Given the description of an element on the screen output the (x, y) to click on. 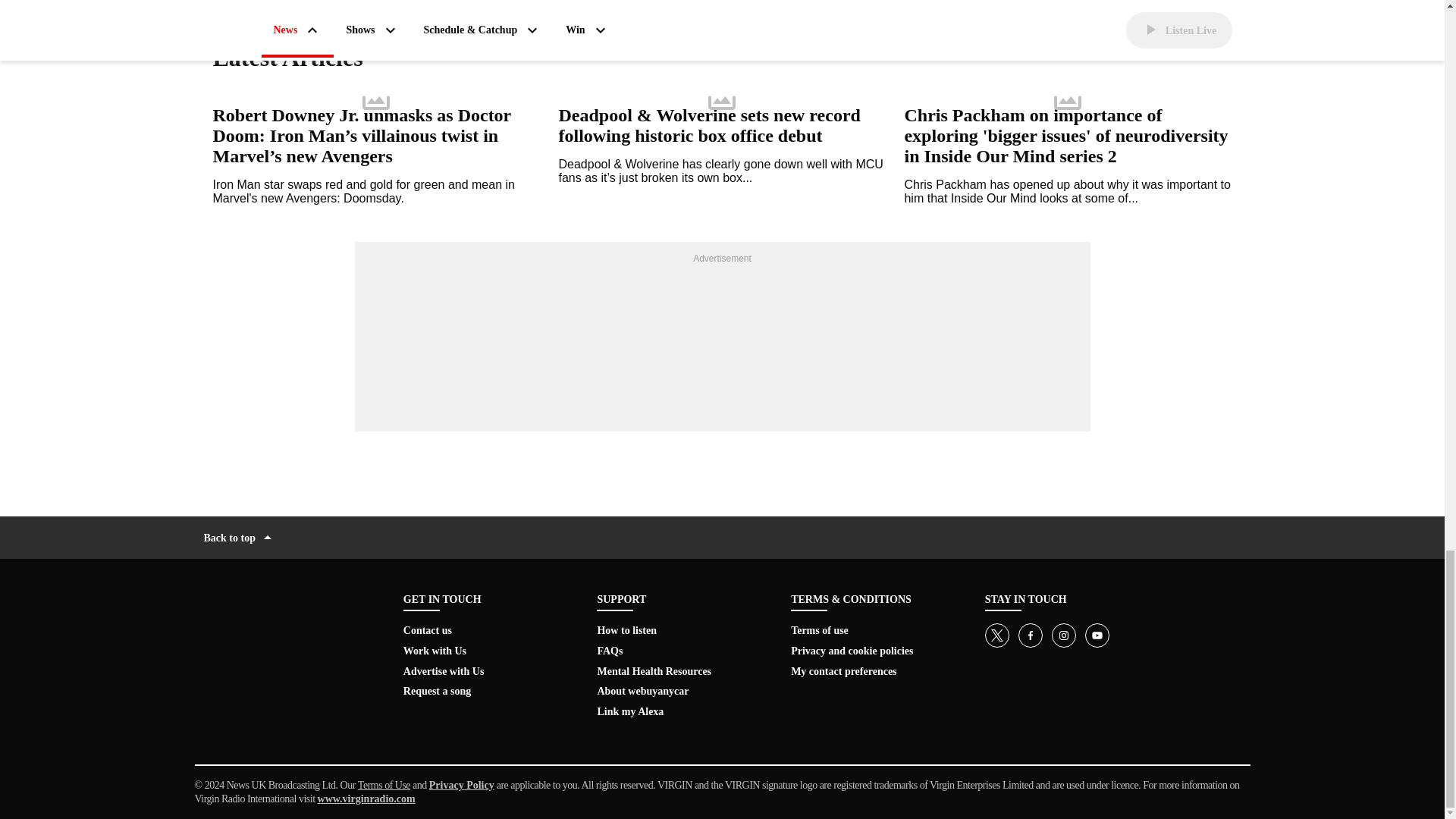
Back to top (239, 537)
How to listen (626, 630)
FAQs (609, 651)
Request a song (436, 691)
Work with Us (434, 651)
Advertise with Us (443, 671)
Contact us (427, 630)
